Given the description of an element on the screen output the (x, y) to click on. 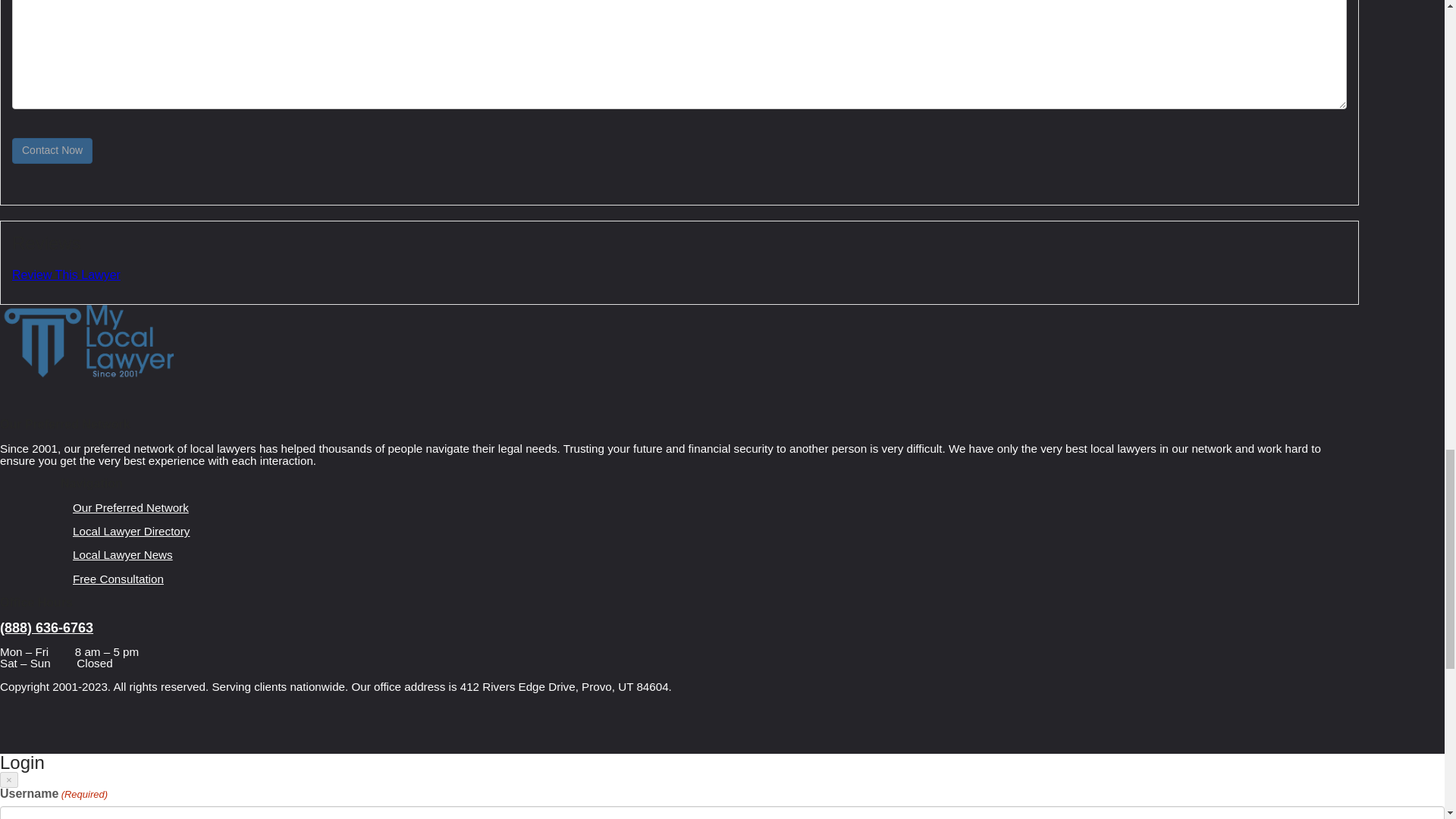
Our Preferred Network (130, 507)
Contact Now (52, 150)
Free Consultation (118, 578)
Local Lawyer News (122, 554)
Contact Now (52, 150)
Local Lawyer Directory (131, 530)
Review This Lawyer (65, 274)
